Given the description of an element on the screen output the (x, y) to click on. 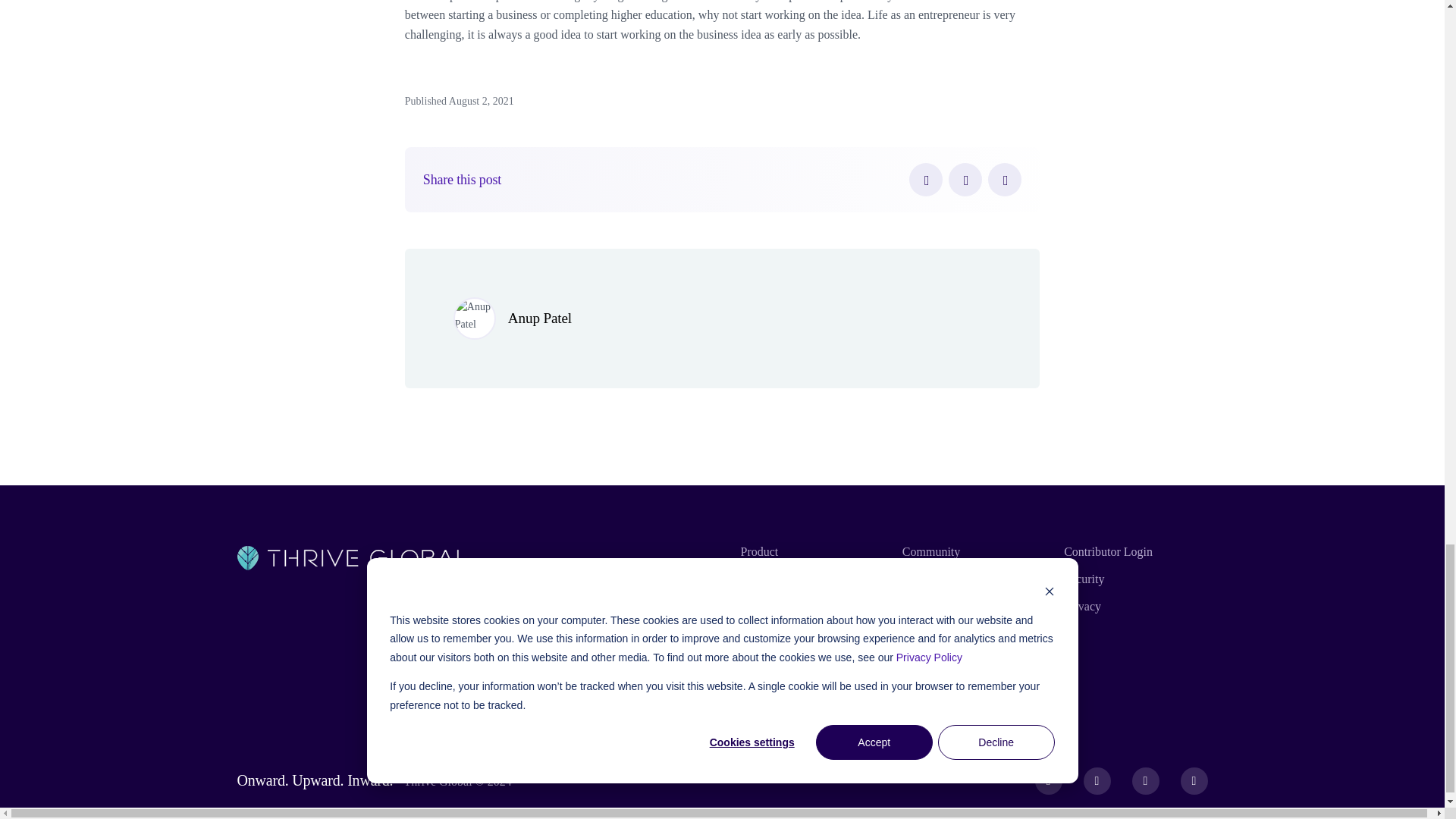
Anup Patel (540, 317)
Twitter (965, 179)
LinkedIn (1005, 179)
Facebook (925, 179)
